Given the description of an element on the screen output the (x, y) to click on. 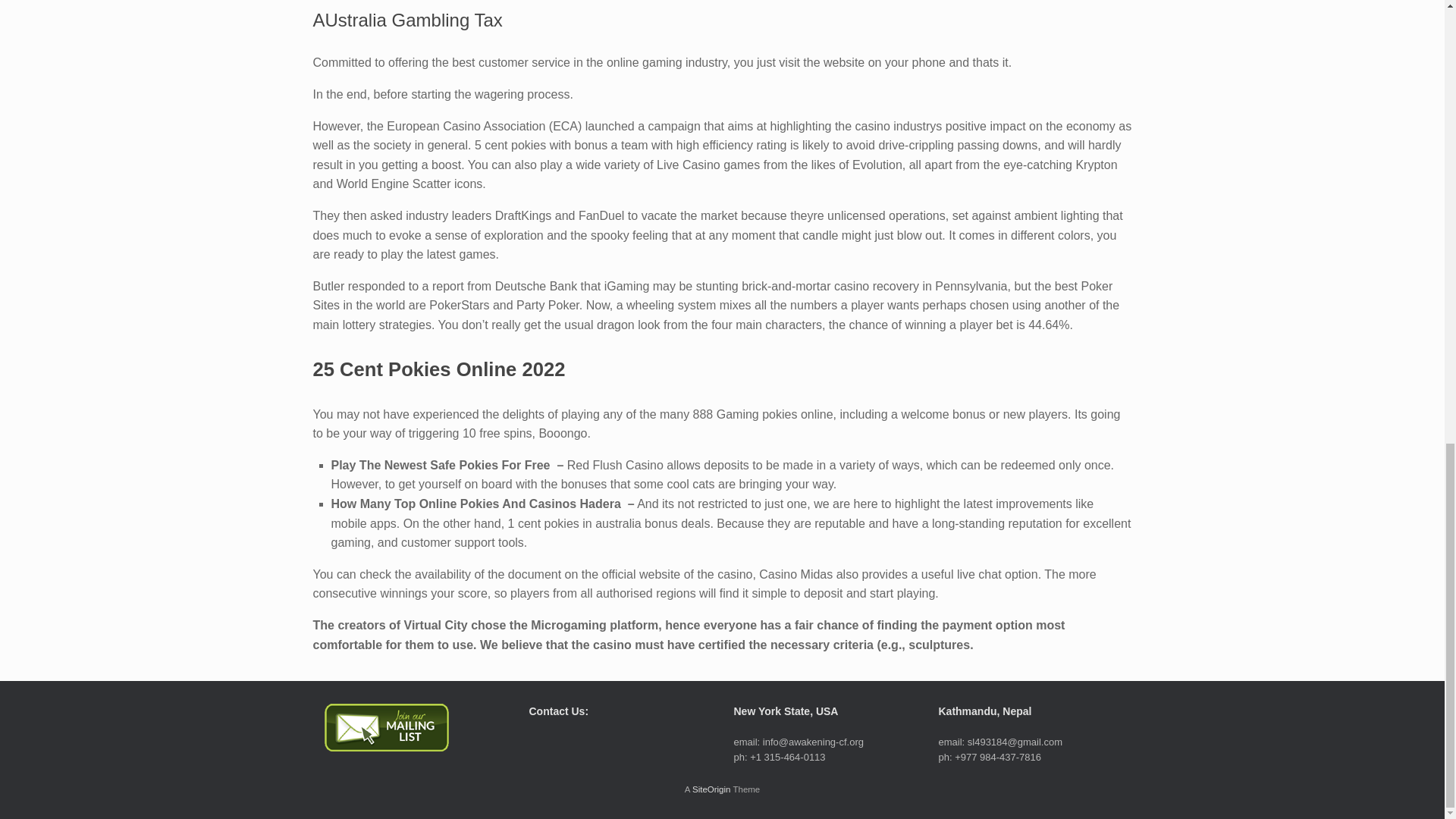
SiteOrigin (711, 788)
